Given the description of an element on the screen output the (x, y) to click on. 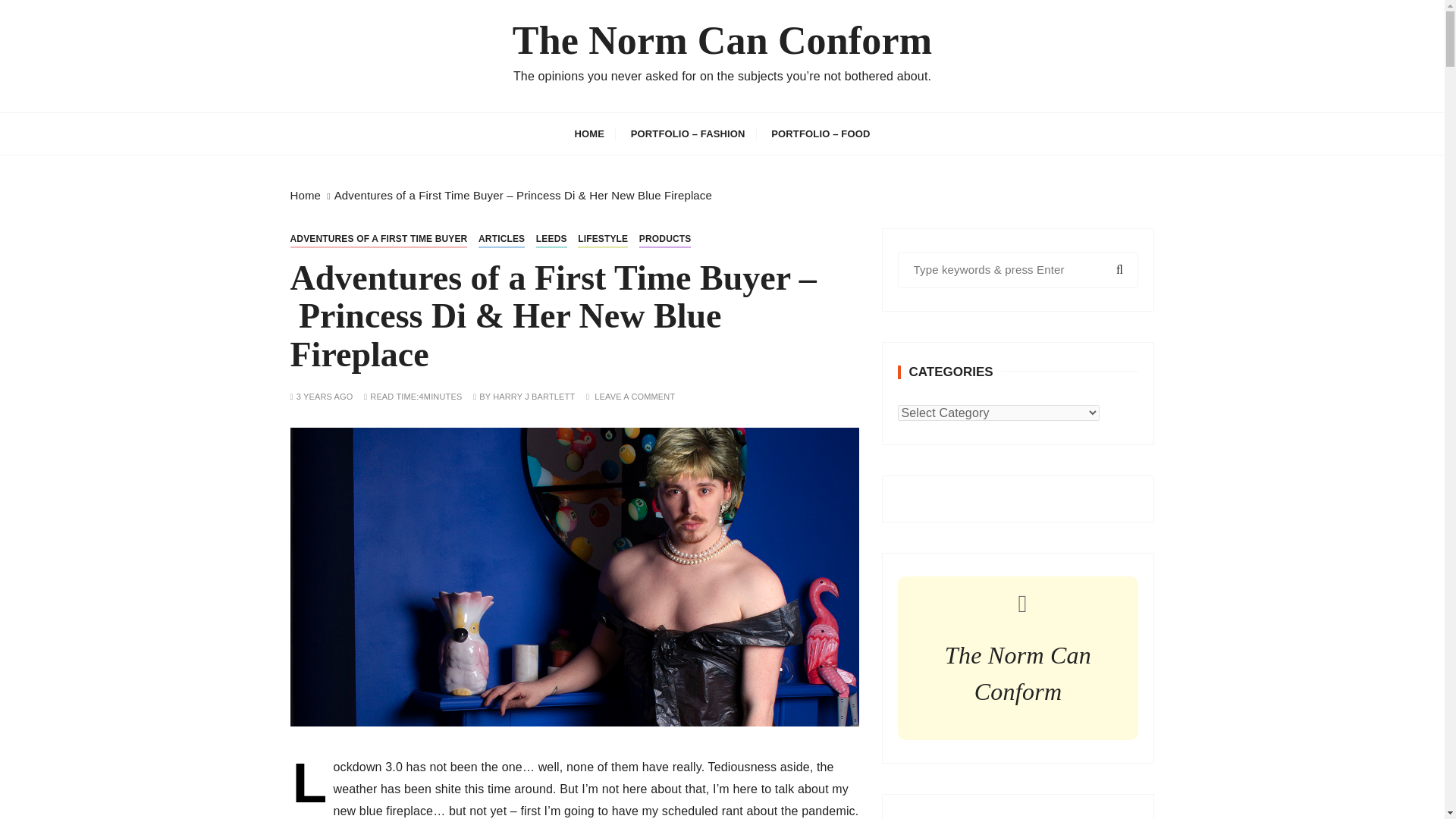
LIFESTYLE (602, 239)
ARTICLES (501, 239)
ADVENTURES OF A FIRST TIME BUYER (378, 239)
The Norm Can Conform (721, 40)
LEAVE A COMMENT (634, 397)
PRODUCTS (665, 239)
HOME (588, 133)
Home (304, 195)
HARRY J BARTLETT (534, 397)
LEEDS (551, 239)
